Given the description of an element on the screen output the (x, y) to click on. 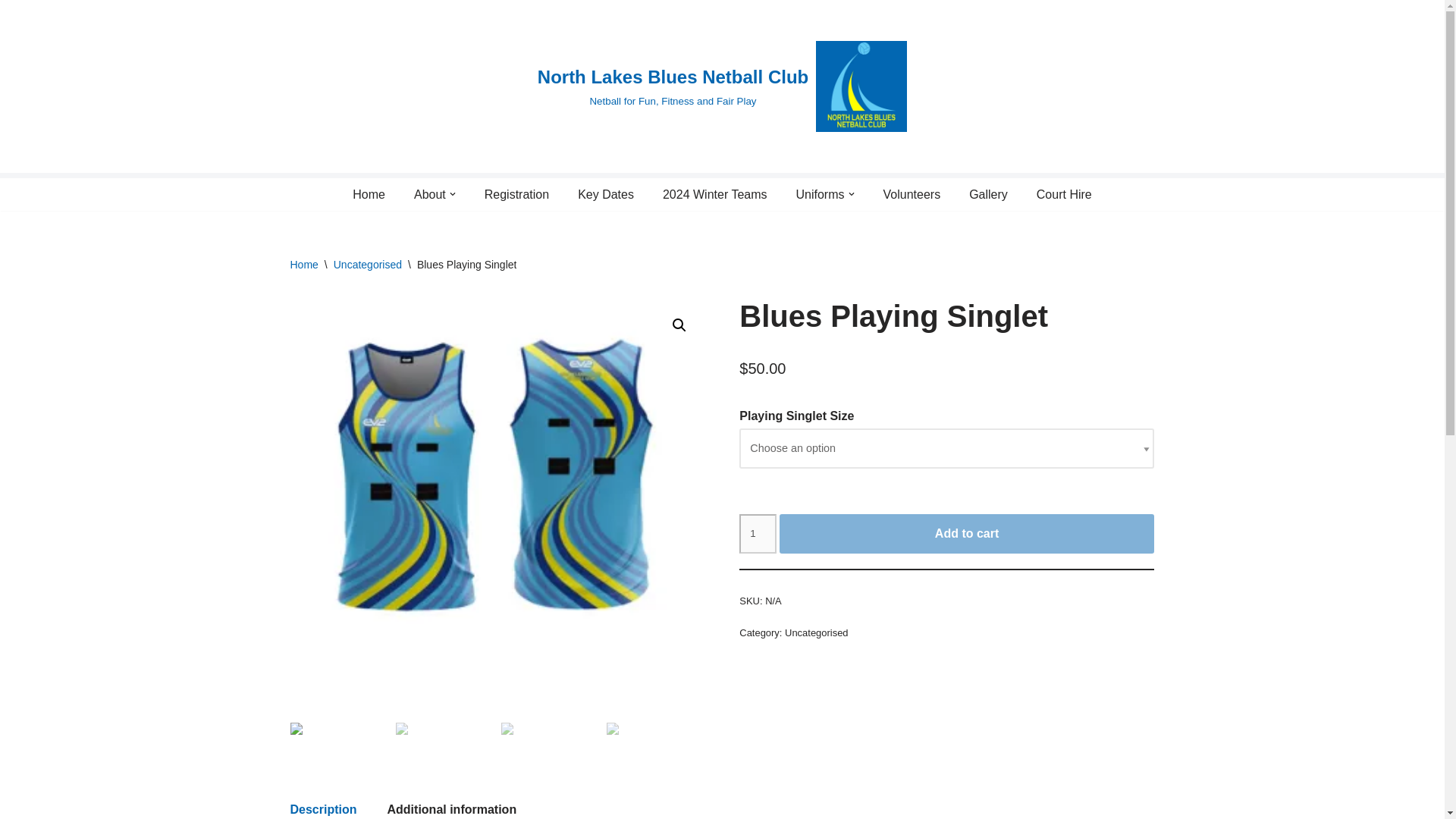
Skip to content (11, 31)
Home (368, 194)
Court Hire (1064, 194)
Gallery (988, 194)
2024 Winter Teams (714, 194)
Key Dates (605, 194)
About (429, 194)
Volunteers (911, 194)
Registration (516, 194)
Uniforms (820, 194)
